Given the description of an element on the screen output the (x, y) to click on. 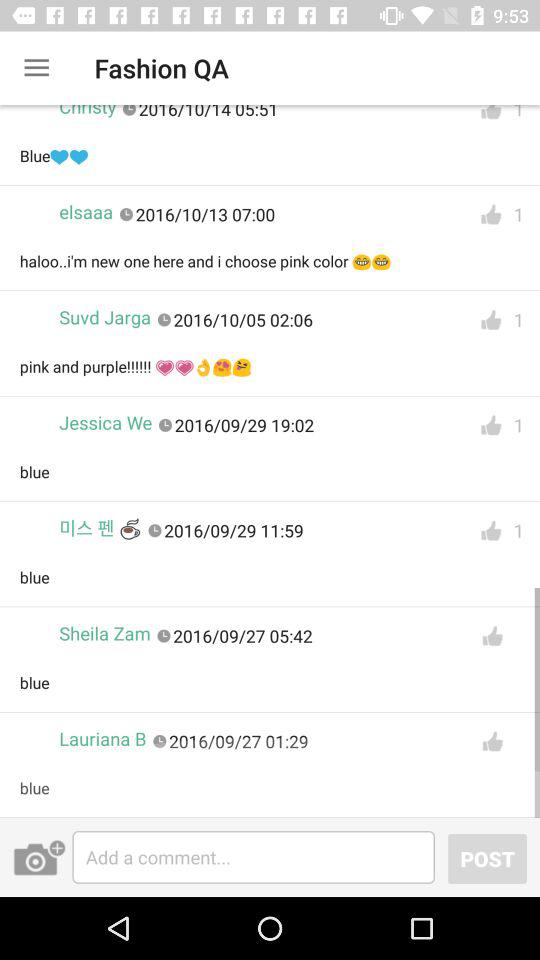
choose the item below blue (102, 738)
